Given the description of an element on the screen output the (x, y) to click on. 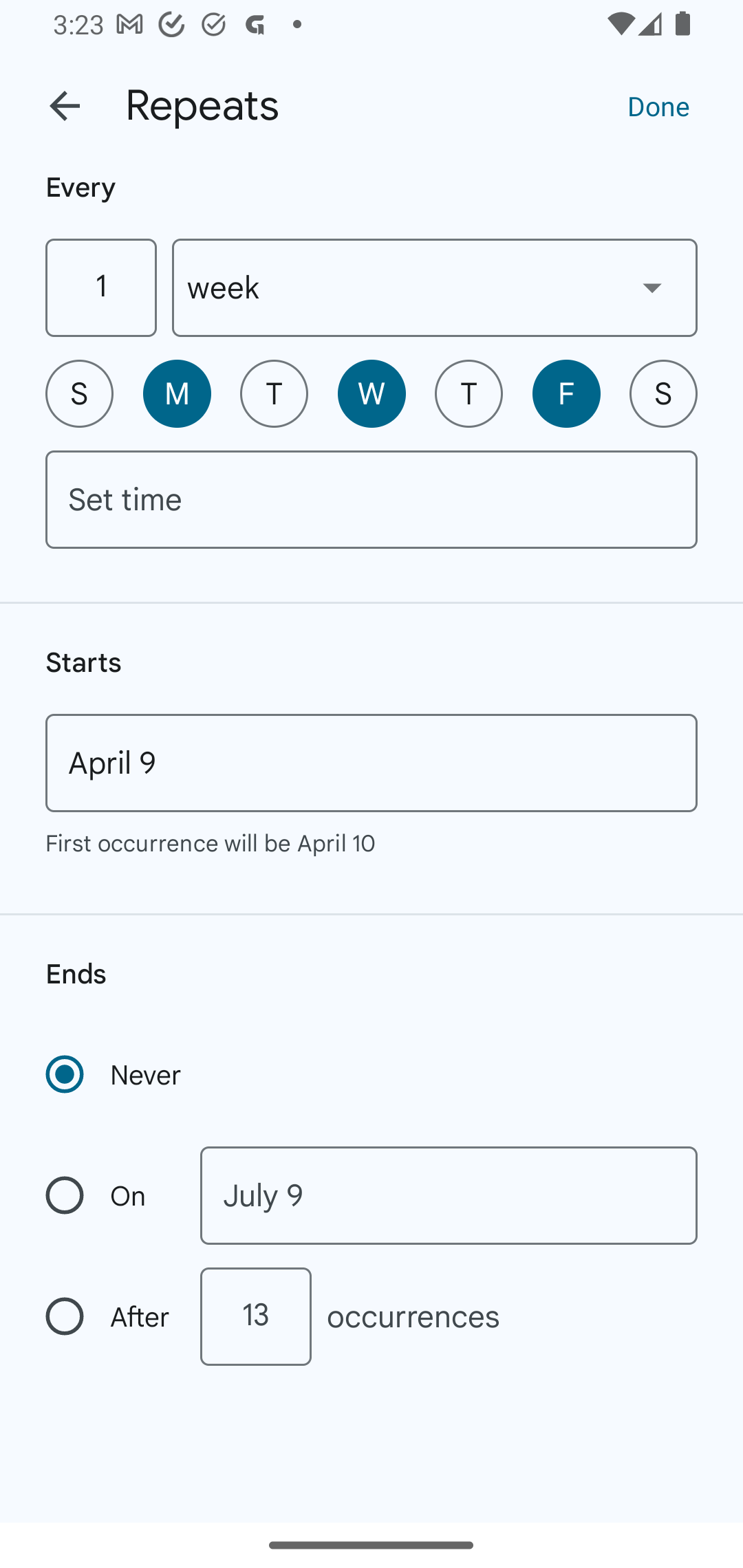
Back (64, 105)
Done (658, 105)
1 (100, 287)
week (434, 287)
Show dropdown menu (652, 286)
S Sunday (79, 393)
M Monday, selected (177, 393)
T Tuesday (273, 393)
W Wednesday, selected (371, 393)
T Thursday (468, 393)
F Friday, selected (566, 393)
S Saturday (663, 393)
Set time (371, 499)
April 9 (371, 762)
Never Recurrence never ends (115, 1074)
July 9 (448, 1195)
On Recurrence ends on a specific date (109, 1195)
13 (255, 1315)
